Given the description of an element on the screen output the (x, y) to click on. 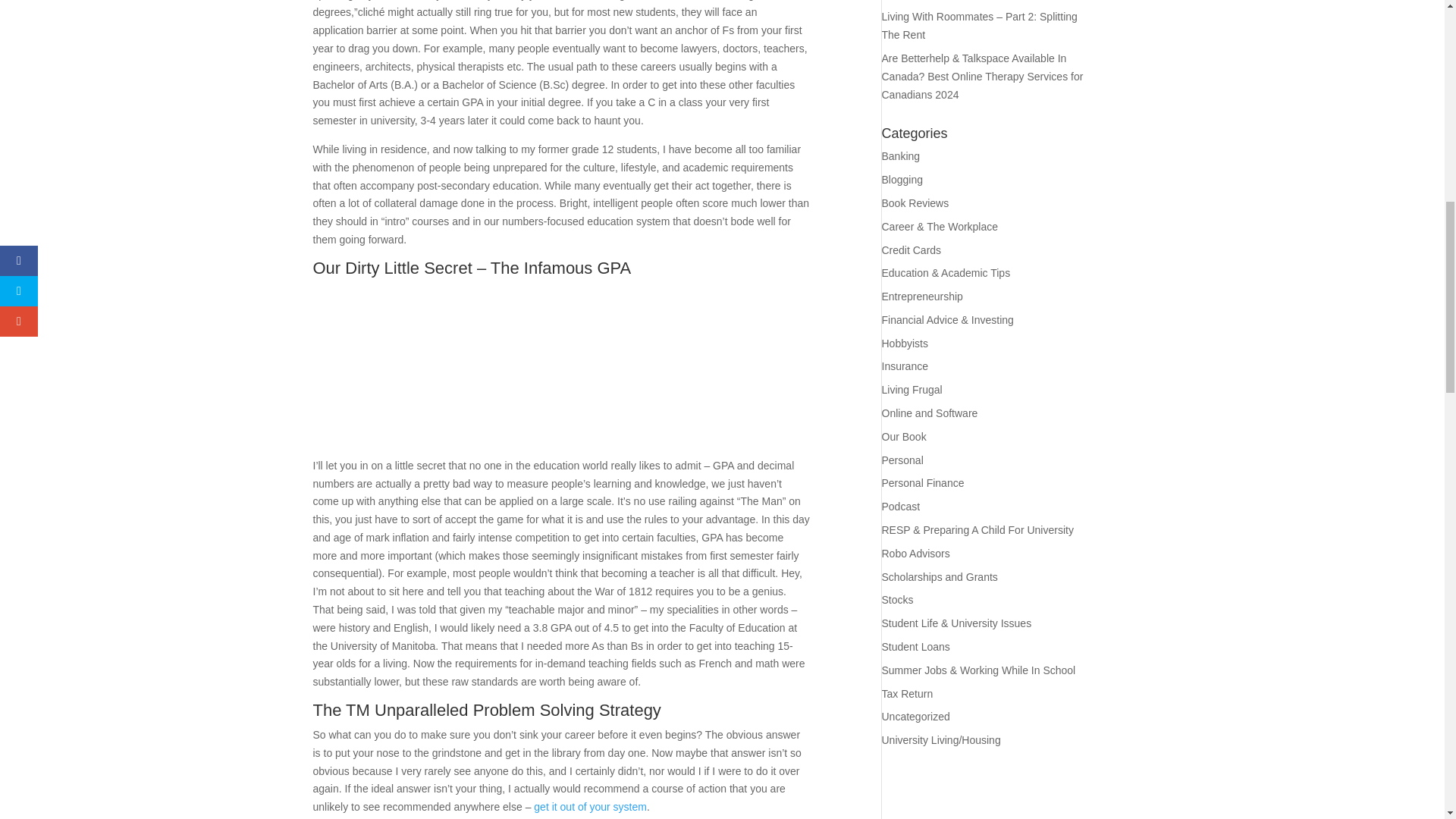
How Much Is An Acceptable Amount To Spend on Alcohol? (590, 806)
low gpa (695, 375)
get it out of your system (590, 806)
